Given the description of an element on the screen output the (x, y) to click on. 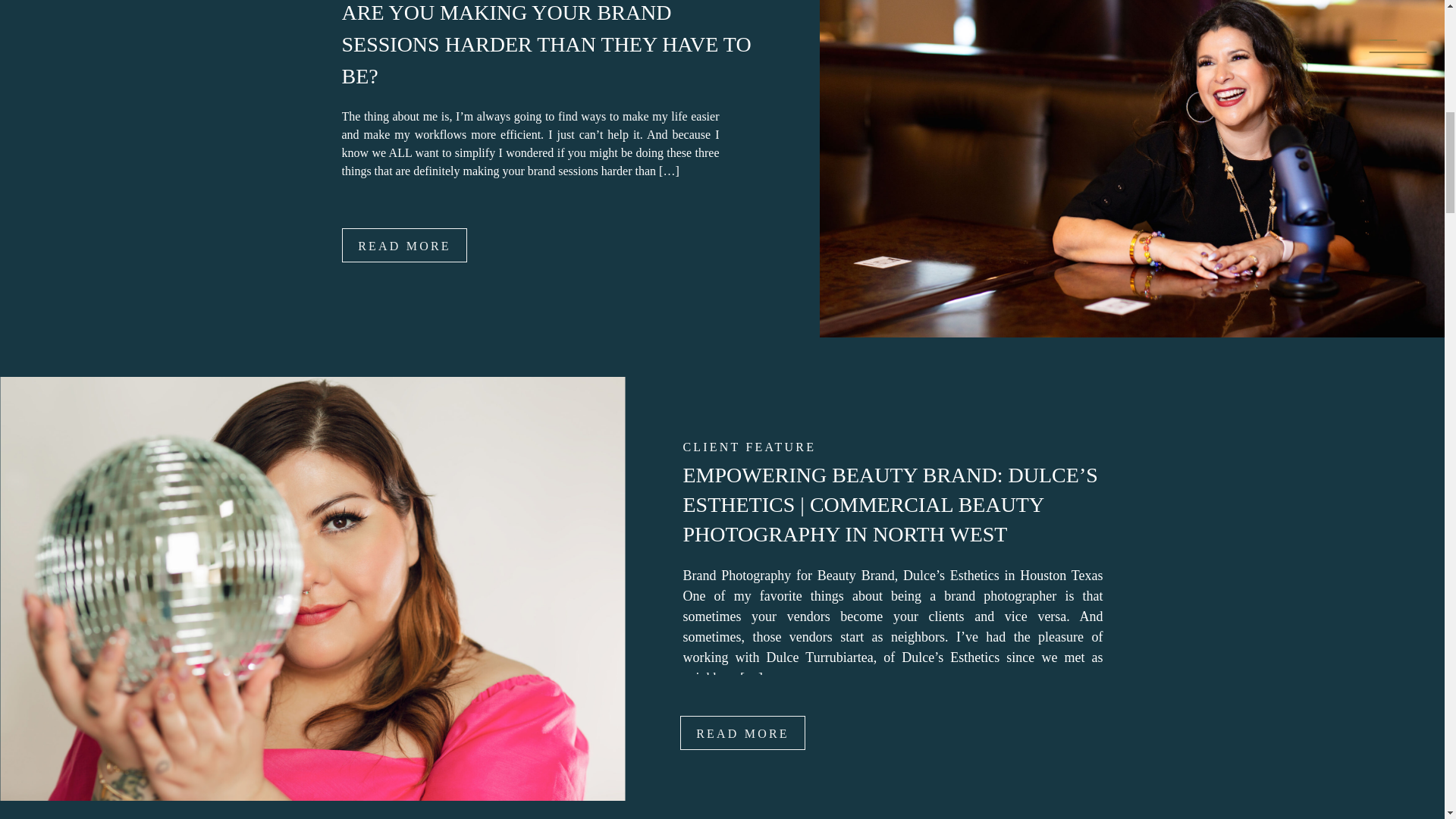
READ MORE (403, 245)
READ MORE (742, 732)
CLIENT FEATURE (748, 446)
